Given the description of an element on the screen output the (x, y) to click on. 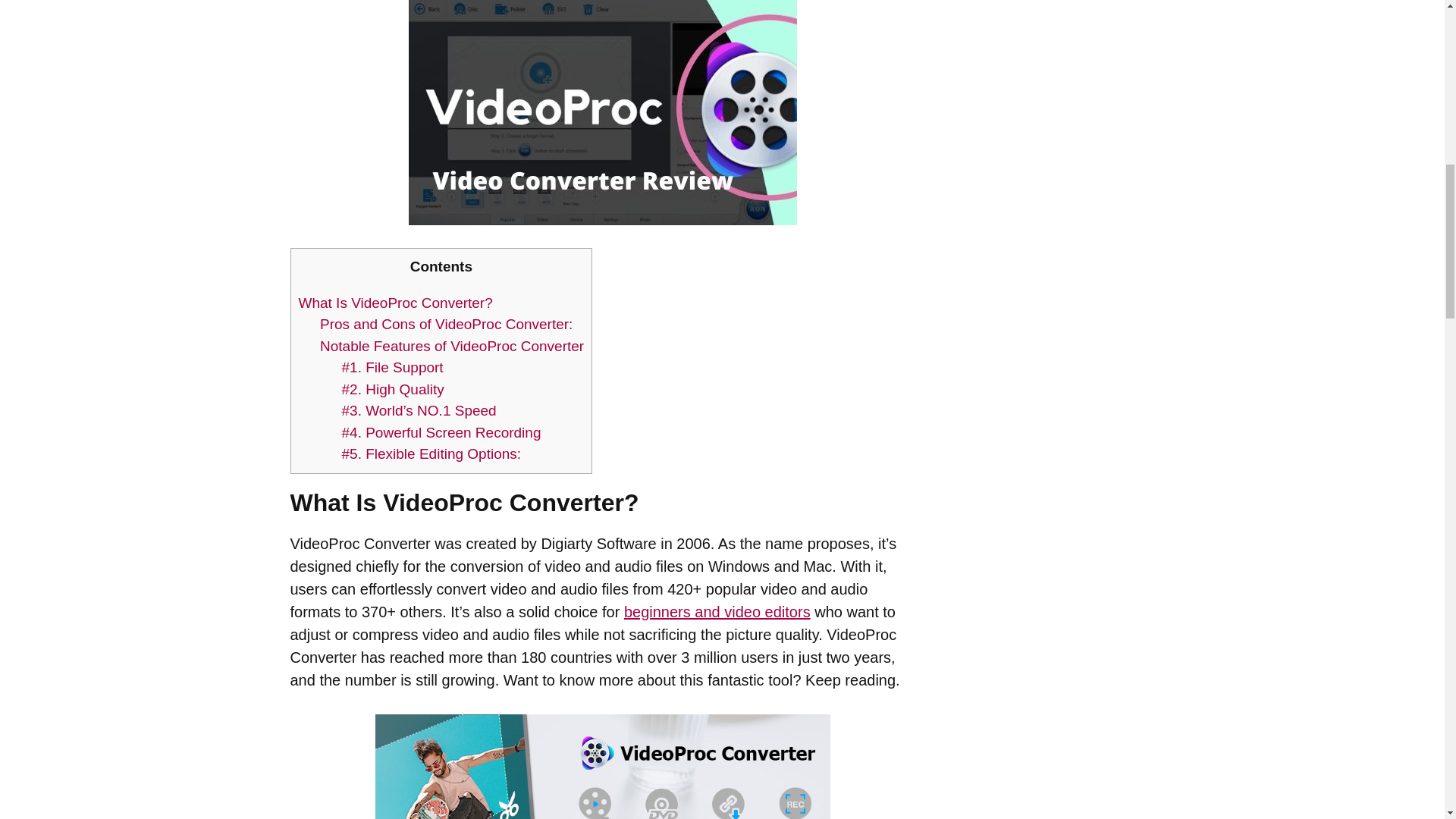
VideoProc Converter (602, 766)
Notable Features of VideoProc Converter (451, 345)
Pros and Cons of VideoProc Converter: (446, 324)
beginners and video editors (717, 611)
VideoProc Video Converter Review (602, 112)
What Is VideoProc Converter? (395, 302)
